Given the description of an element on the screen output the (x, y) to click on. 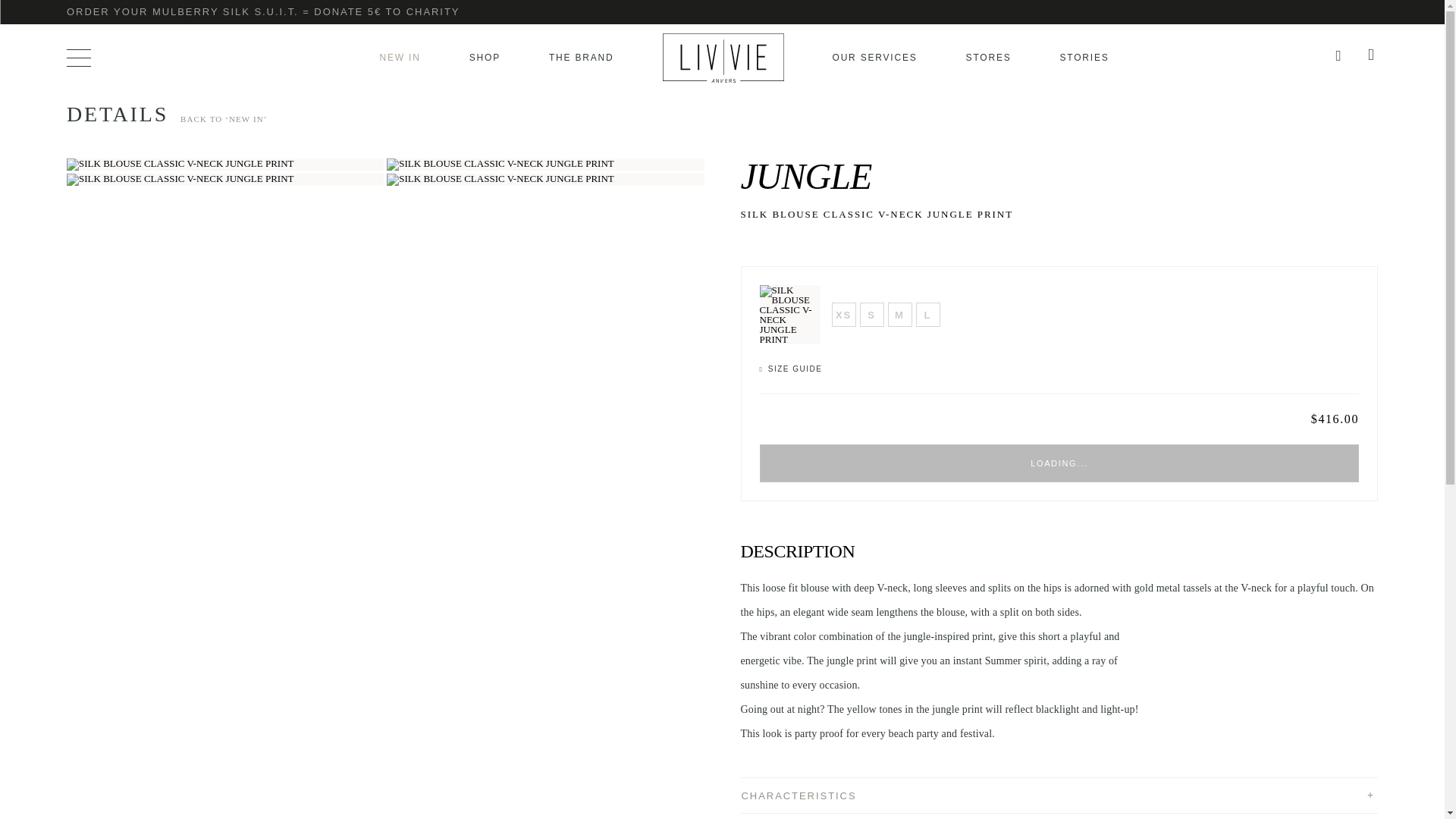
SILK BLOUSE CLASSIC V-NECK JUNGLE PRINT (180, 179)
STORES (988, 57)
SILK BLOUSE CLASSIC V-NECK JUNGLE PRINT (180, 164)
STORIES (1084, 57)
OUR SERVICES (874, 57)
SHOP (484, 57)
NEW IN (400, 57)
SILK BLOUSE CLASSIC V-NECK JUNGLE PRINT (500, 164)
SILK BLOUSE CLASSIC V-NECK JUNGLE PRINT (500, 179)
THE BRAND (581, 57)
